Given the description of an element on the screen output the (x, y) to click on. 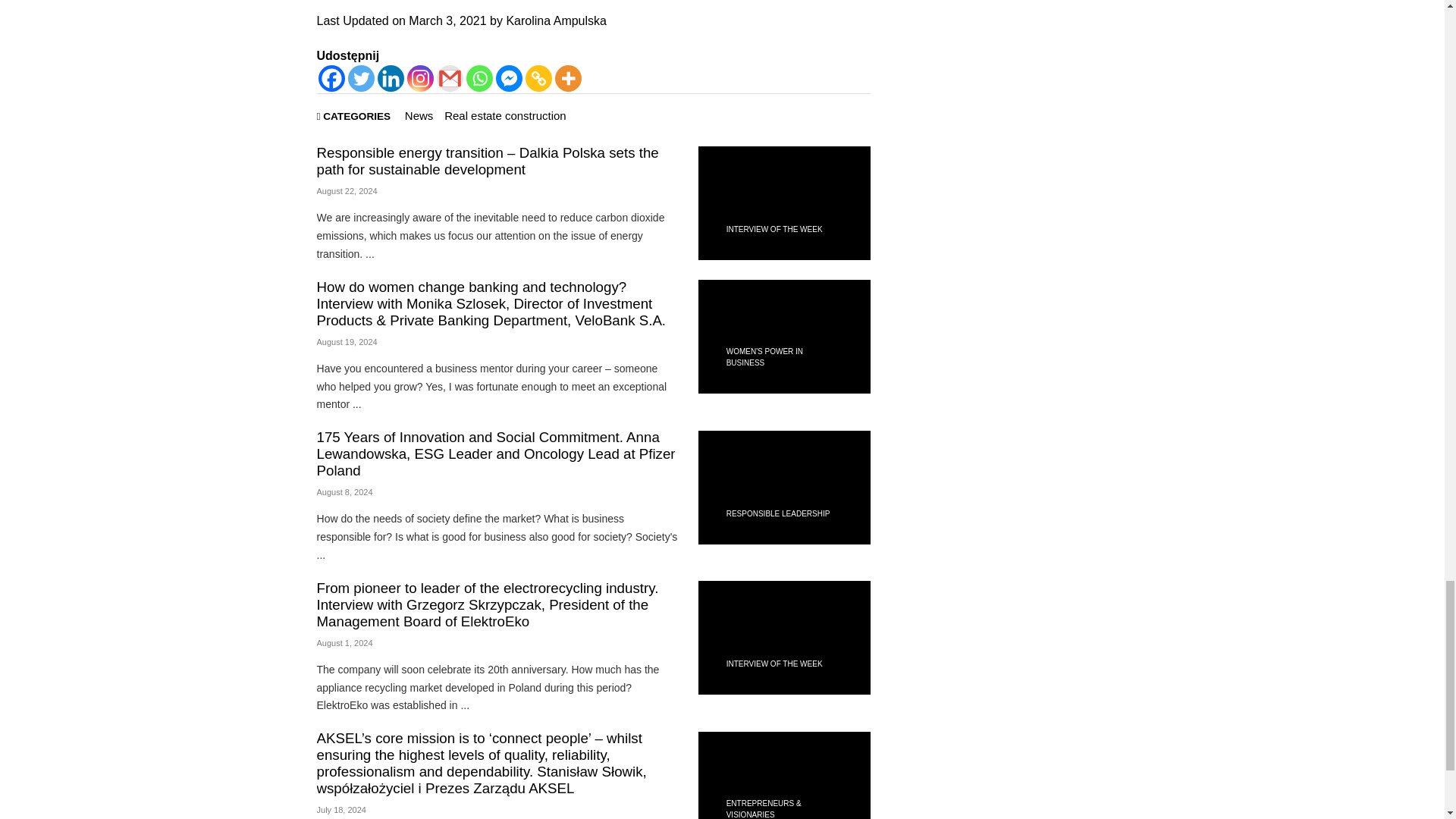
Facebook (331, 78)
Google Gmail (449, 78)
Copy Link (537, 78)
Twitter (360, 78)
Interview of the Week (774, 229)
Real estate construction (505, 115)
Karolina Ampulska (556, 20)
Instagram (419, 78)
Whatsapp (478, 78)
Linkedin (390, 78)
